Given the description of an element on the screen output the (x, y) to click on. 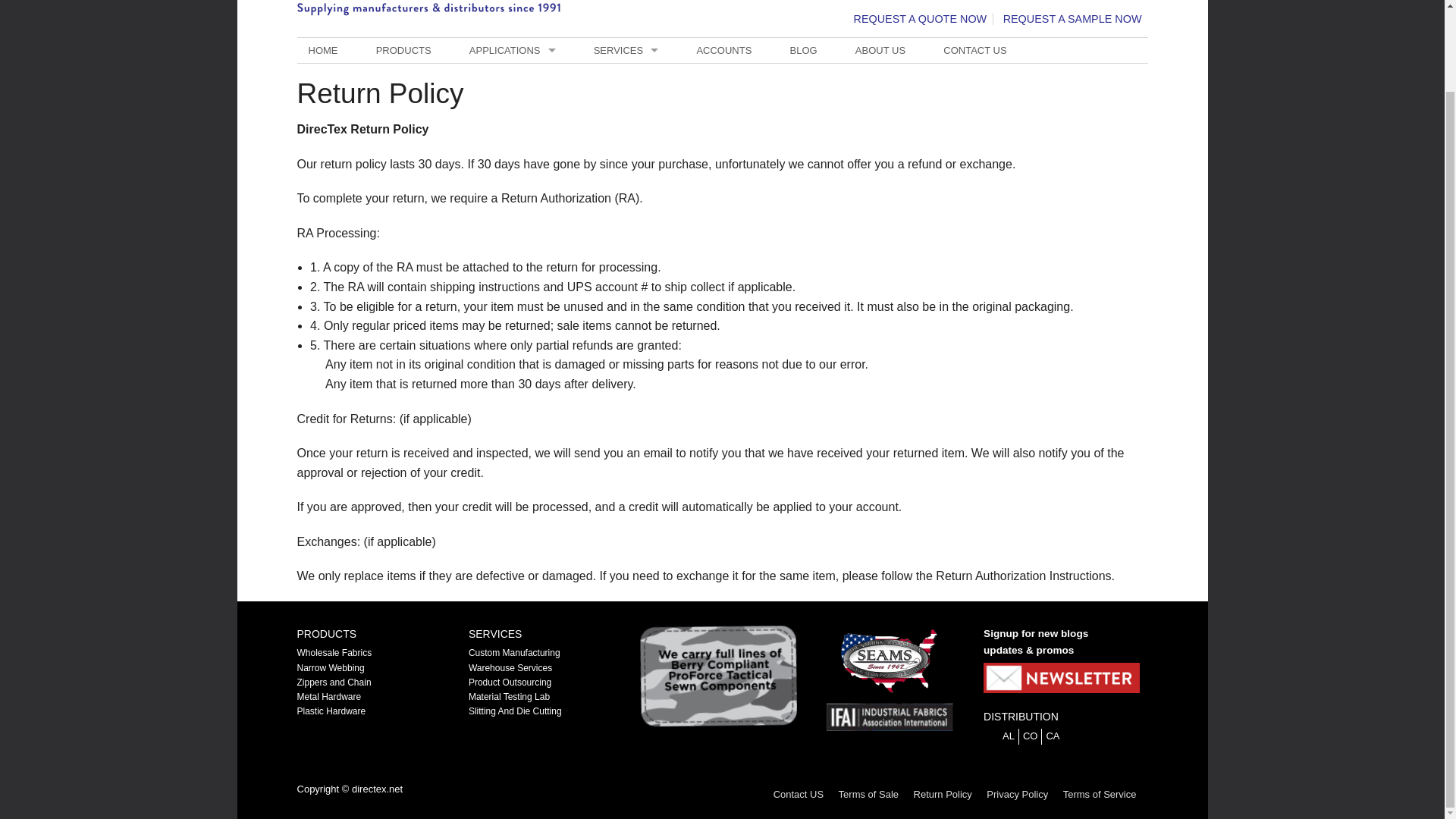
HOME (323, 50)
REQUEST A SAMPLE NOW (1072, 19)
PRODUCTS (403, 50)
SERVICES (625, 50)
REQUEST A QUOTE NOW (920, 19)
APPLICATIONS (512, 50)
